Given the description of an element on the screen output the (x, y) to click on. 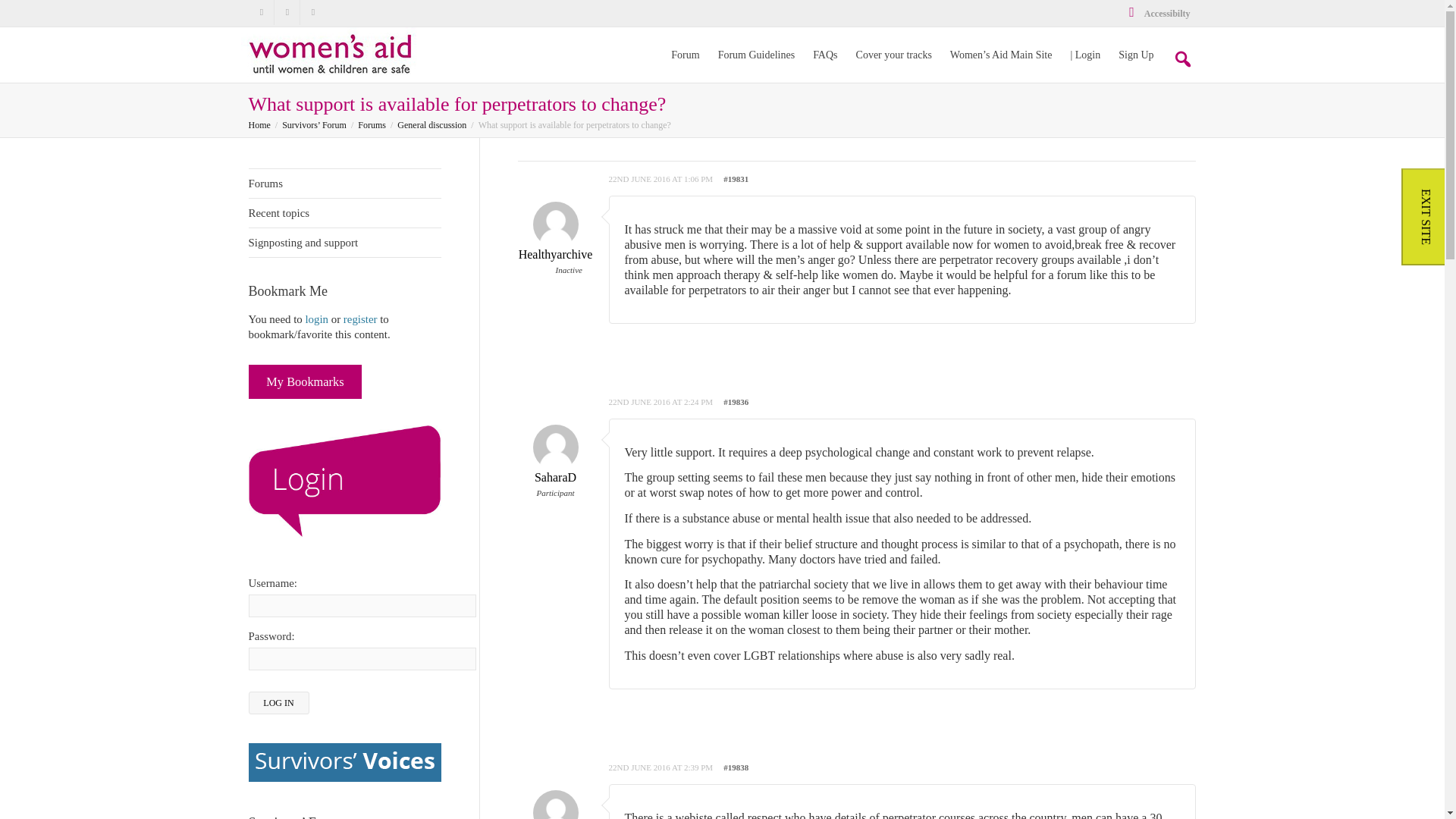
Survivors' Forum (259, 124)
Home (259, 124)
View godschild's profile (554, 812)
Survivors' Forum (332, 51)
godschild (554, 812)
View Healthyarchive's profile (554, 239)
Cover your tracks (893, 54)
Accessibilty (1157, 13)
Forum Guidelines (755, 54)
View SaharaD's profile (554, 462)
Cover your tracks (893, 54)
Women's Aid Main Site (1001, 54)
Forum Guidelines (755, 54)
General discussion (431, 124)
General discussion (431, 124)
